Given the description of an element on the screen output the (x, y) to click on. 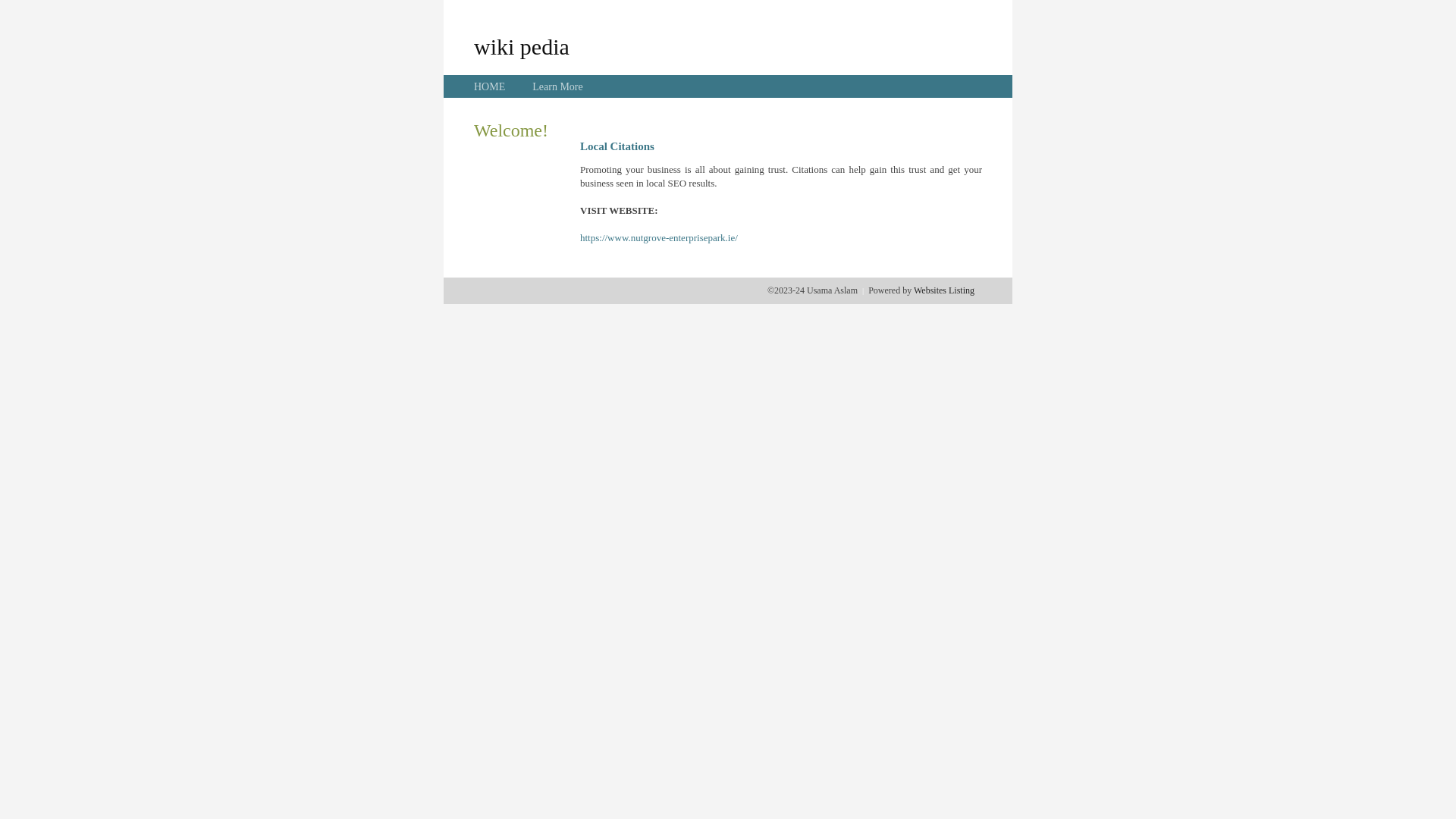
wiki pedia Element type: text (521, 46)
HOME Element type: text (489, 86)
Websites Listing Element type: text (943, 290)
https://www.nutgrove-enterprisepark.ie/ Element type: text (658, 237)
Learn More Element type: text (557, 86)
